Given the description of an element on the screen output the (x, y) to click on. 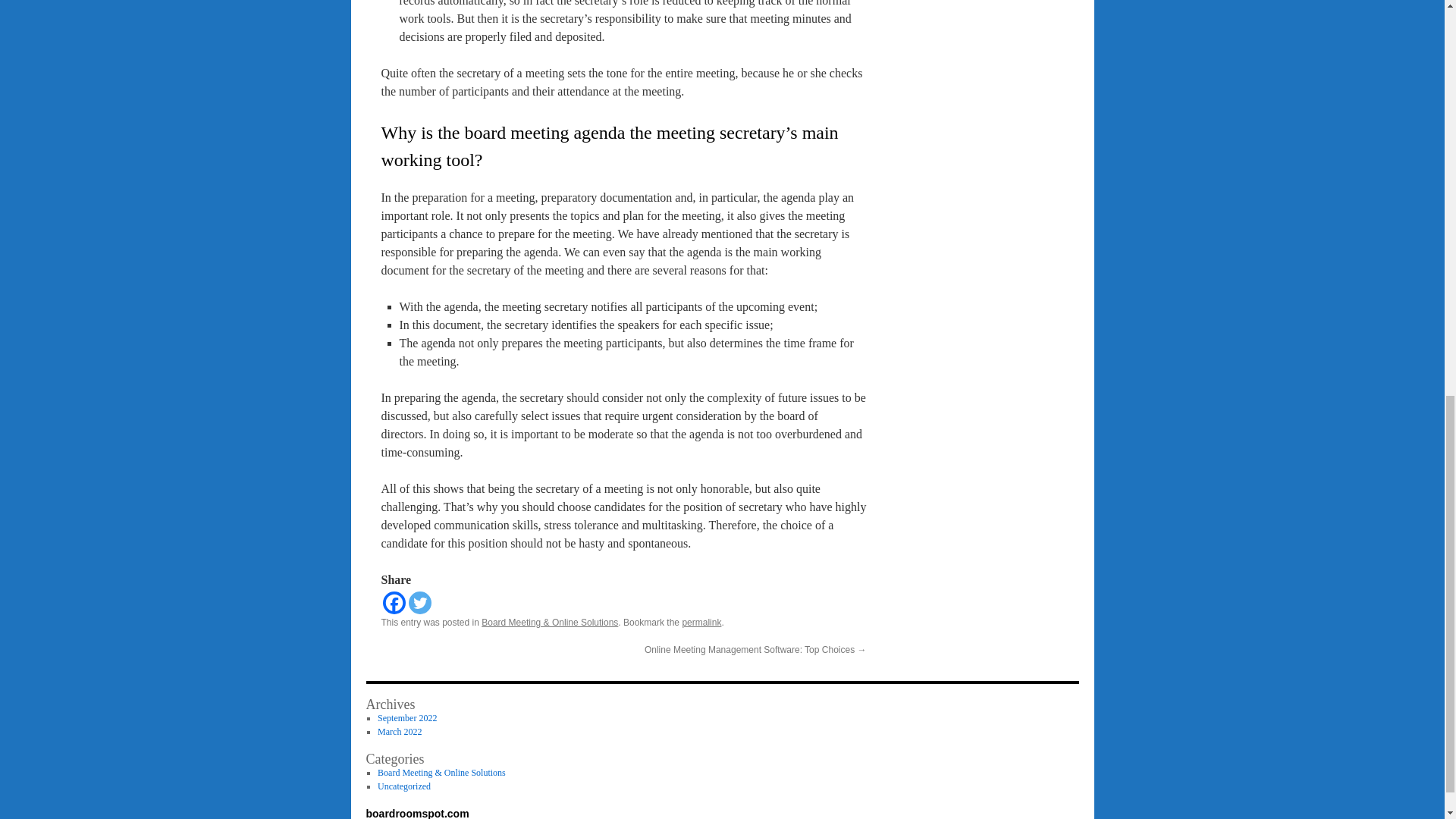
Facebook (392, 602)
Uncategorized (403, 786)
Twitter (418, 602)
March 2022 (399, 731)
September 2022 (406, 717)
Permalink to Main Duties of a Secretary in a Meeting (700, 622)
permalink (700, 622)
